Given the description of an element on the screen output the (x, y) to click on. 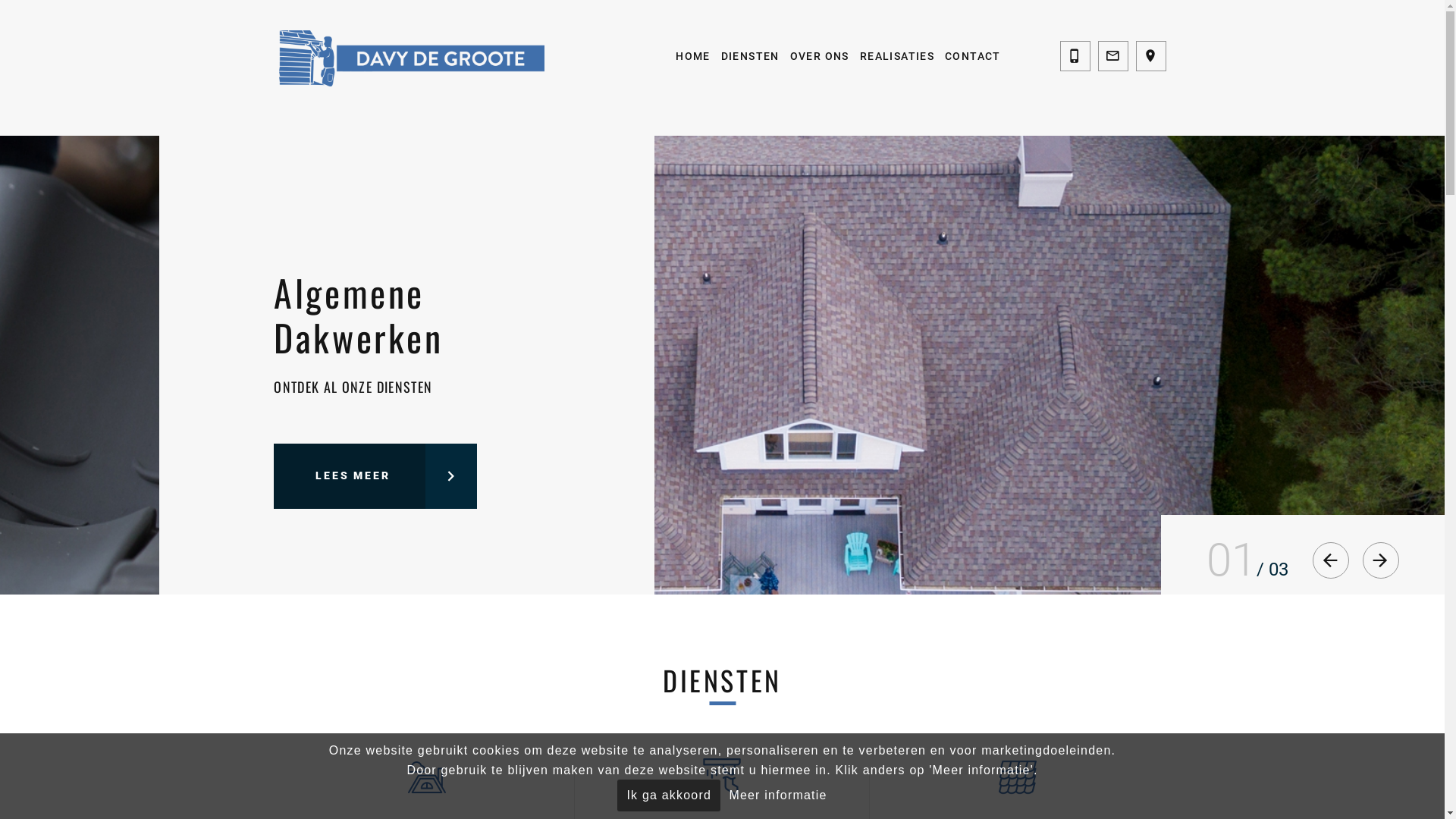
LEES MEER Element type: text (374, 453)
OVER ONS Element type: text (819, 56)
DIENSTEN Element type: text (750, 56)
REALISATIES Element type: text (896, 56)
Ik ga akkoord Element type: text (668, 795)
CONTACT Element type: text (972, 56)
Meer informatie Element type: text (777, 794)
HOME Element type: text (692, 56)
